Given the description of an element on the screen output the (x, y) to click on. 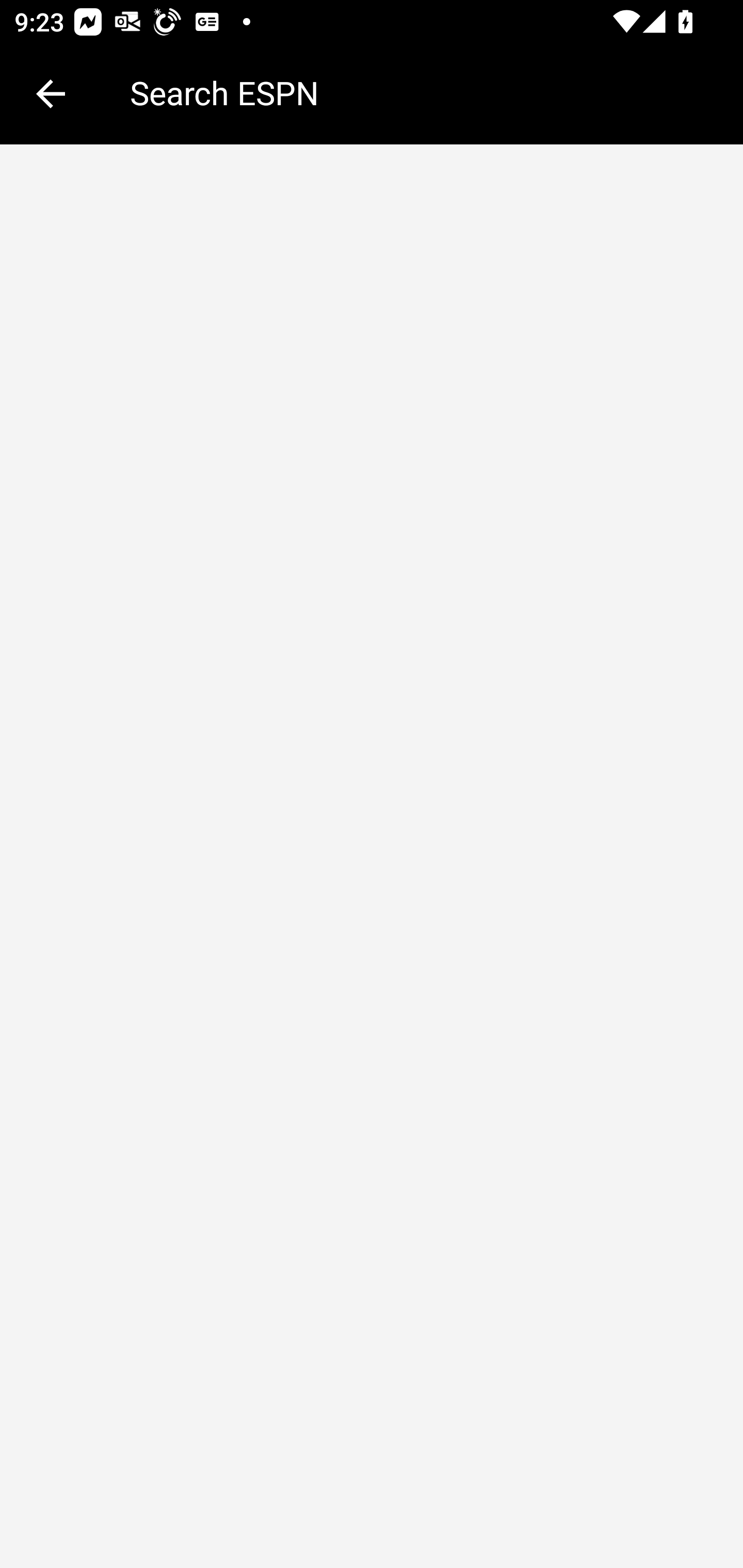
Collapse (50, 93)
Search ESPN (421, 92)
